Given the description of an element on the screen output the (x, y) to click on. 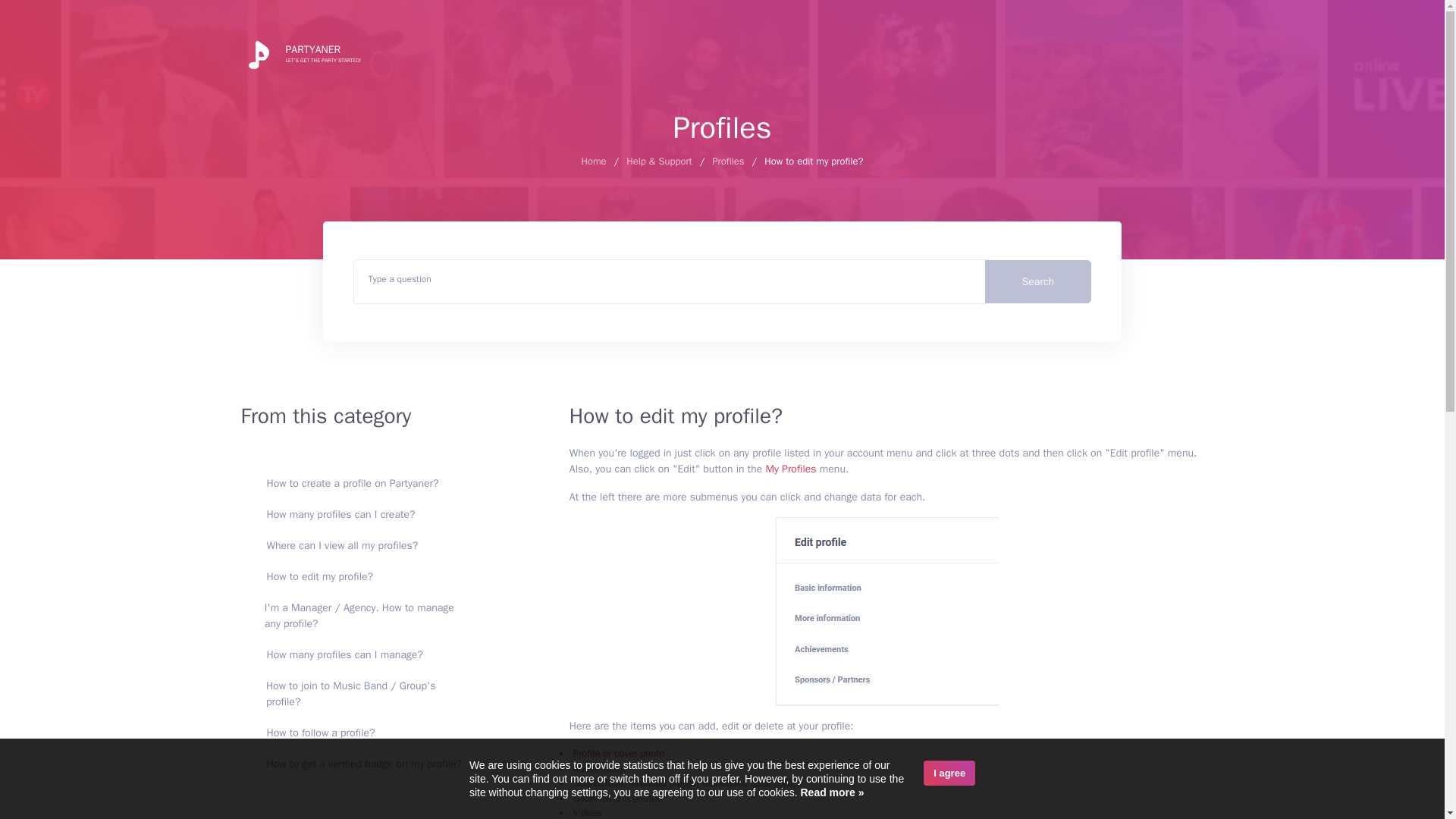
Home (592, 160)
How many profiles can I manage? (344, 654)
Profile or cover photo (619, 753)
How to get a verified badge on my profile? (301, 53)
My Profiles (364, 763)
Profiles (790, 468)
Search (727, 160)
Where can I view all my profiles? (1038, 281)
How to edit my profile? (342, 545)
